Given the description of an element on the screen output the (x, y) to click on. 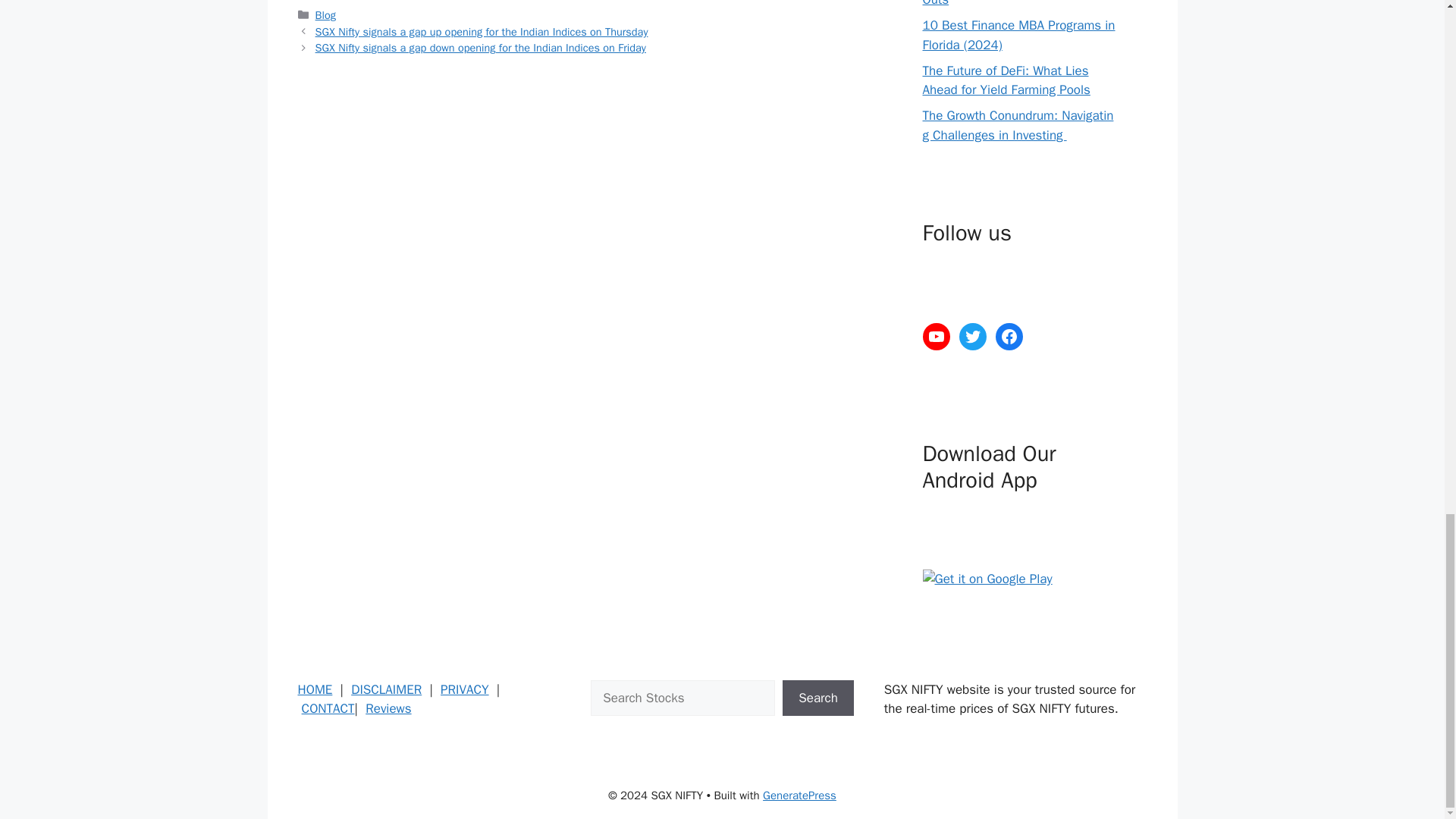
Blog (325, 15)
